Given the description of an element on the screen output the (x, y) to click on. 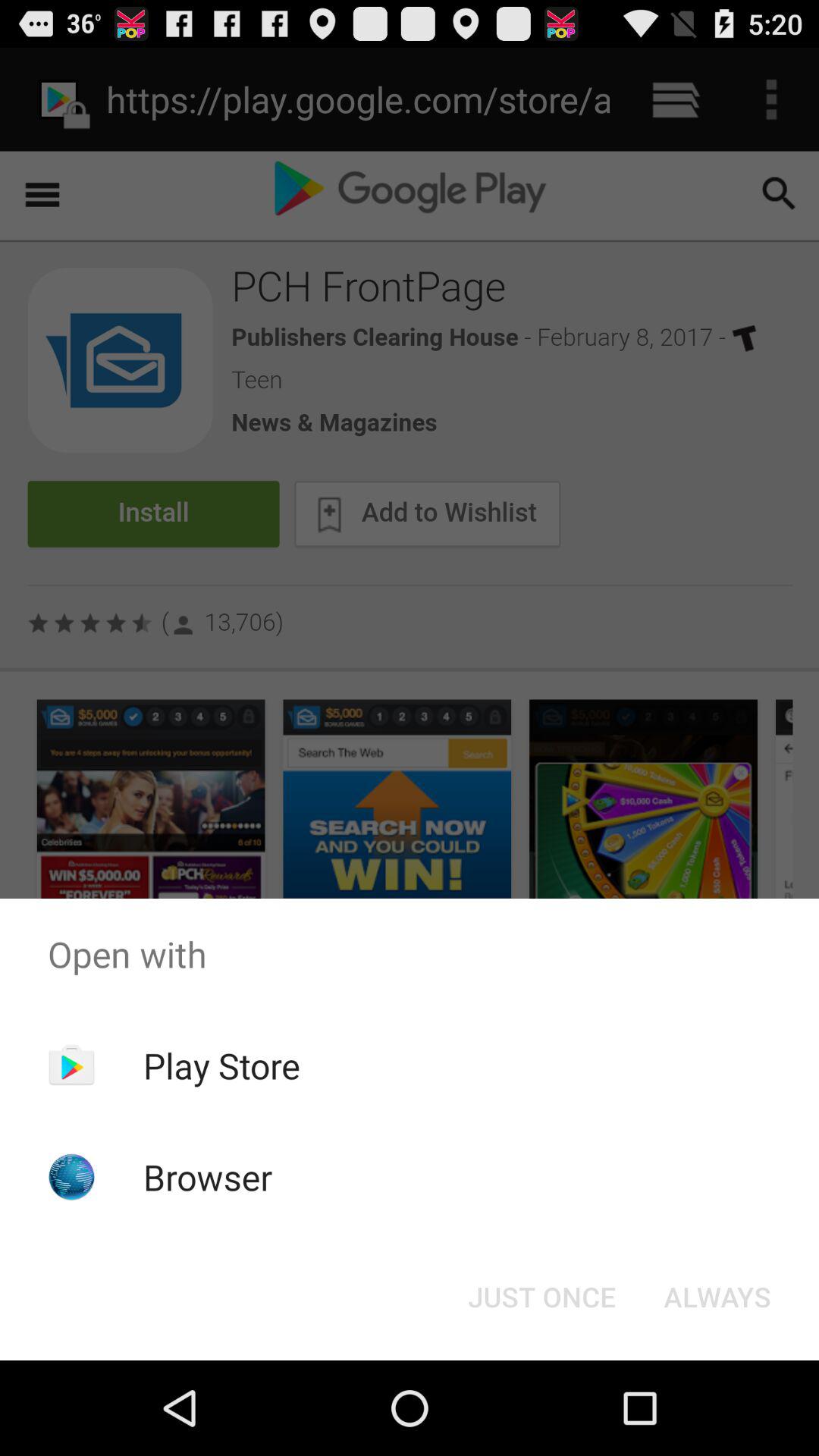
flip to the just once (541, 1296)
